Given the description of an element on the screen output the (x, y) to click on. 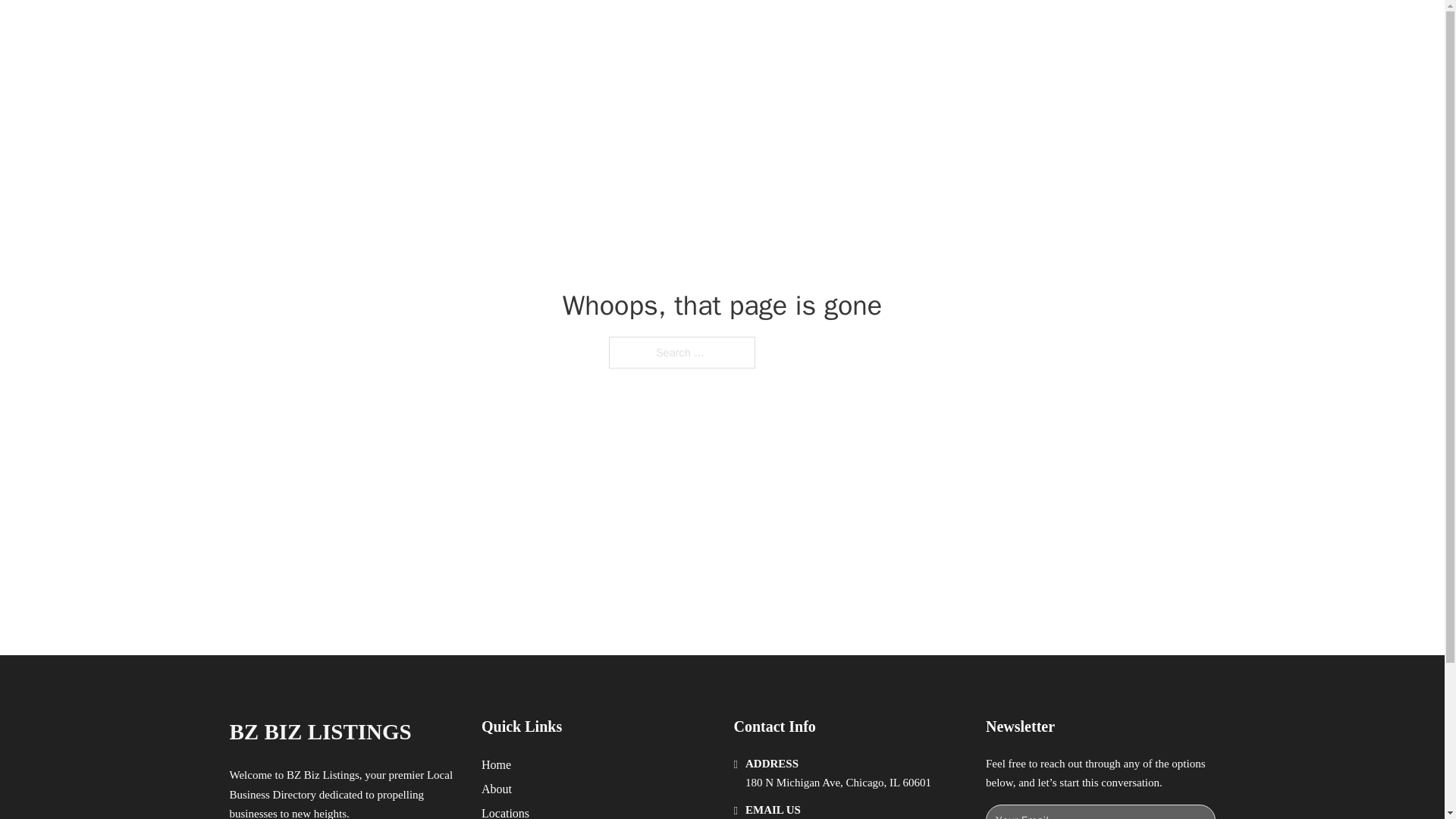
LOCATIONS (990, 29)
HOME (919, 29)
BZ BIZ LISTINGS (319, 732)
Locations (505, 811)
About (496, 788)
Home (496, 764)
BZ BIZ LISTINGS (394, 28)
